Given the description of an element on the screen output the (x, y) to click on. 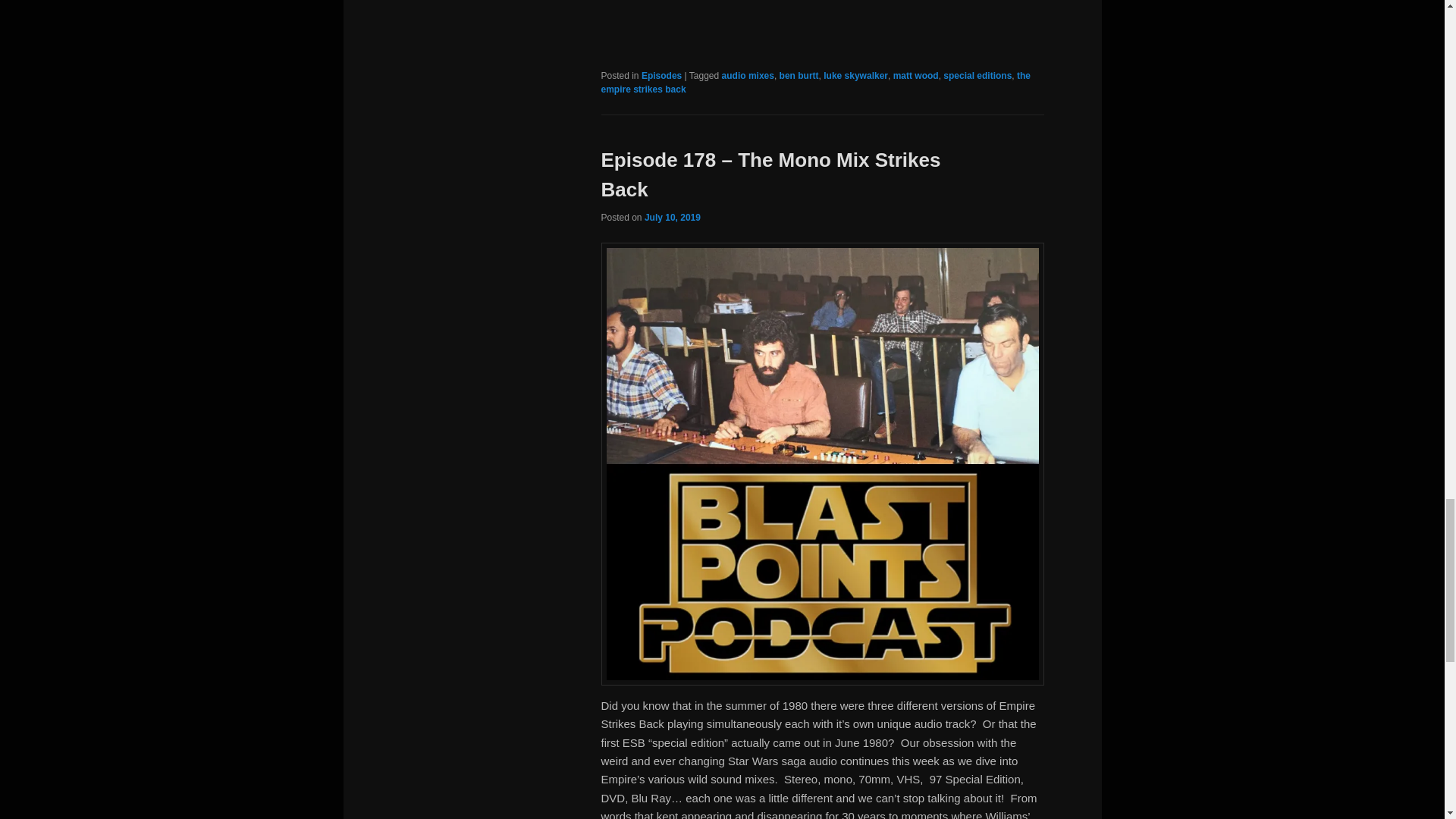
luke skywalker (856, 75)
July 10, 2019 (672, 217)
ben burtt (798, 75)
audio mixes (748, 75)
the empire strikes back (814, 82)
Episodes (661, 75)
matt wood (916, 75)
special editions (977, 75)
11:49 am (672, 217)
